Given the description of an element on the screen output the (x, y) to click on. 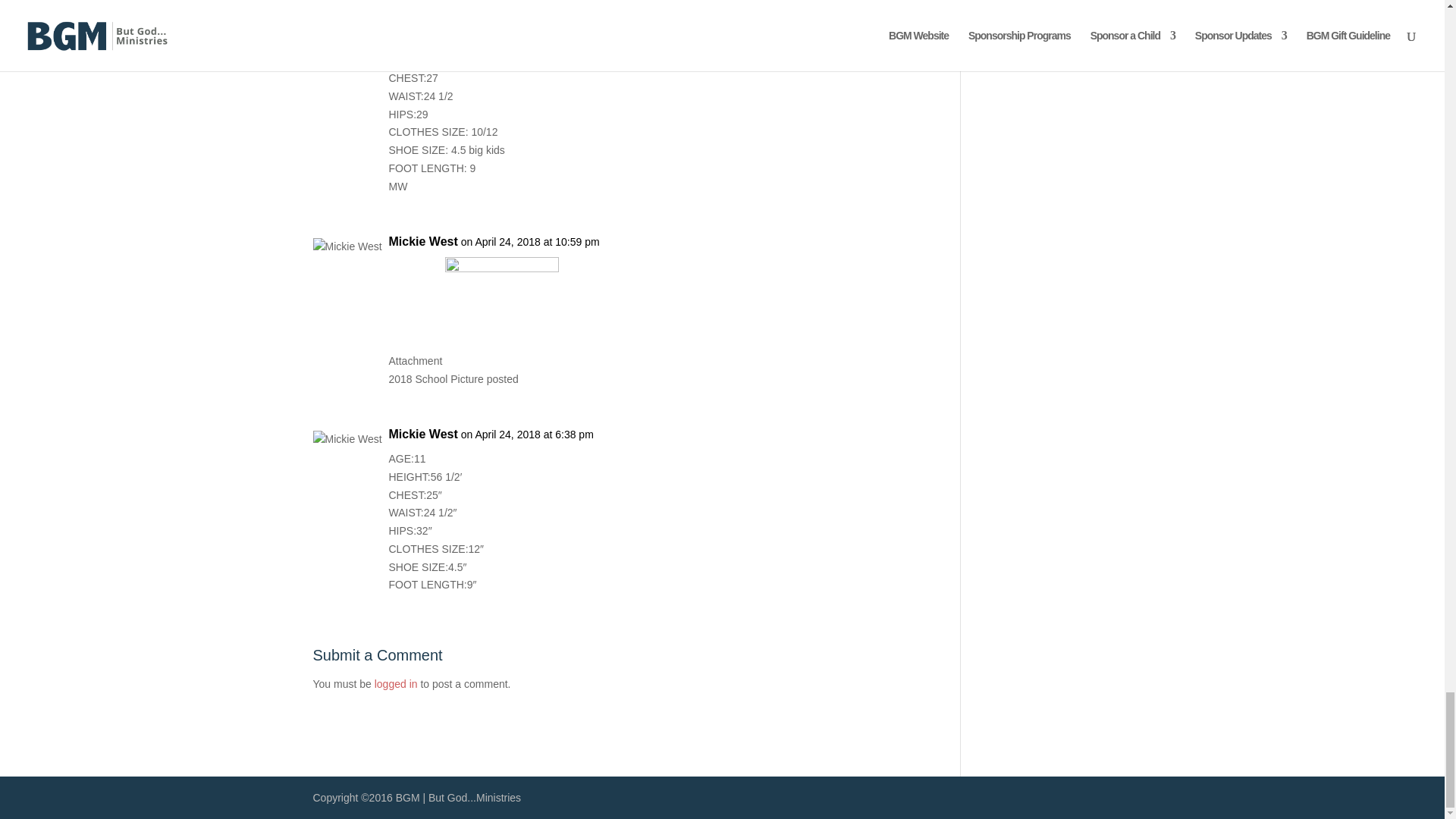
Mickie West (422, 434)
Mickie West (422, 4)
Mickie West (422, 241)
logged in (395, 684)
Download: 3AF-Jessika-Toussaint-3a.jpg (502, 361)
